Given the description of an element on the screen output the (x, y) to click on. 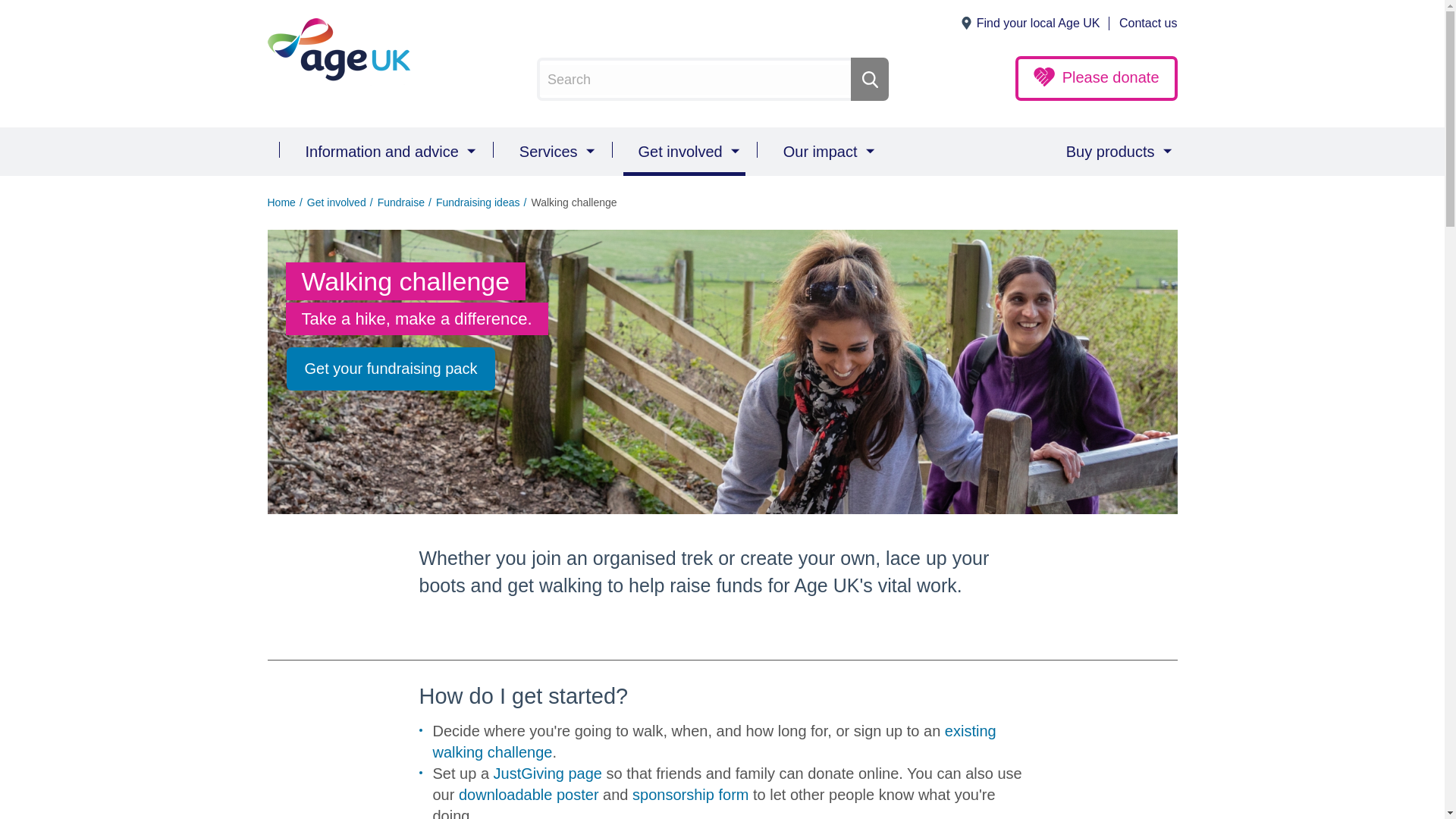
Information and advice (384, 151)
Contact us (1147, 23)
Please donate (1095, 78)
Find your local Age UK (1037, 23)
